Given the description of an element on the screen output the (x, y) to click on. 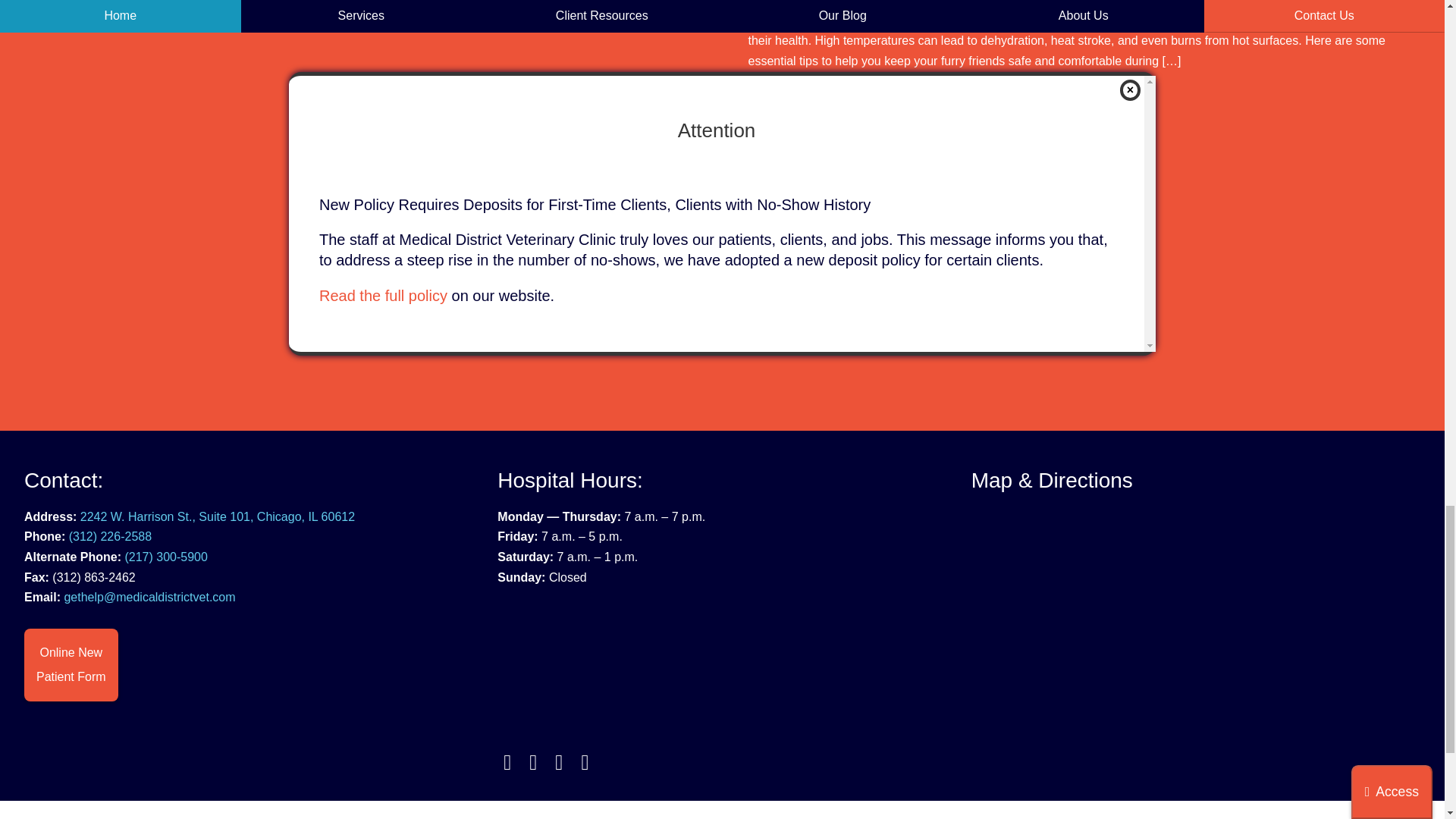
Illinois Veterinary Google Map (1196, 641)
